Given the description of an element on the screen output the (x, y) to click on. 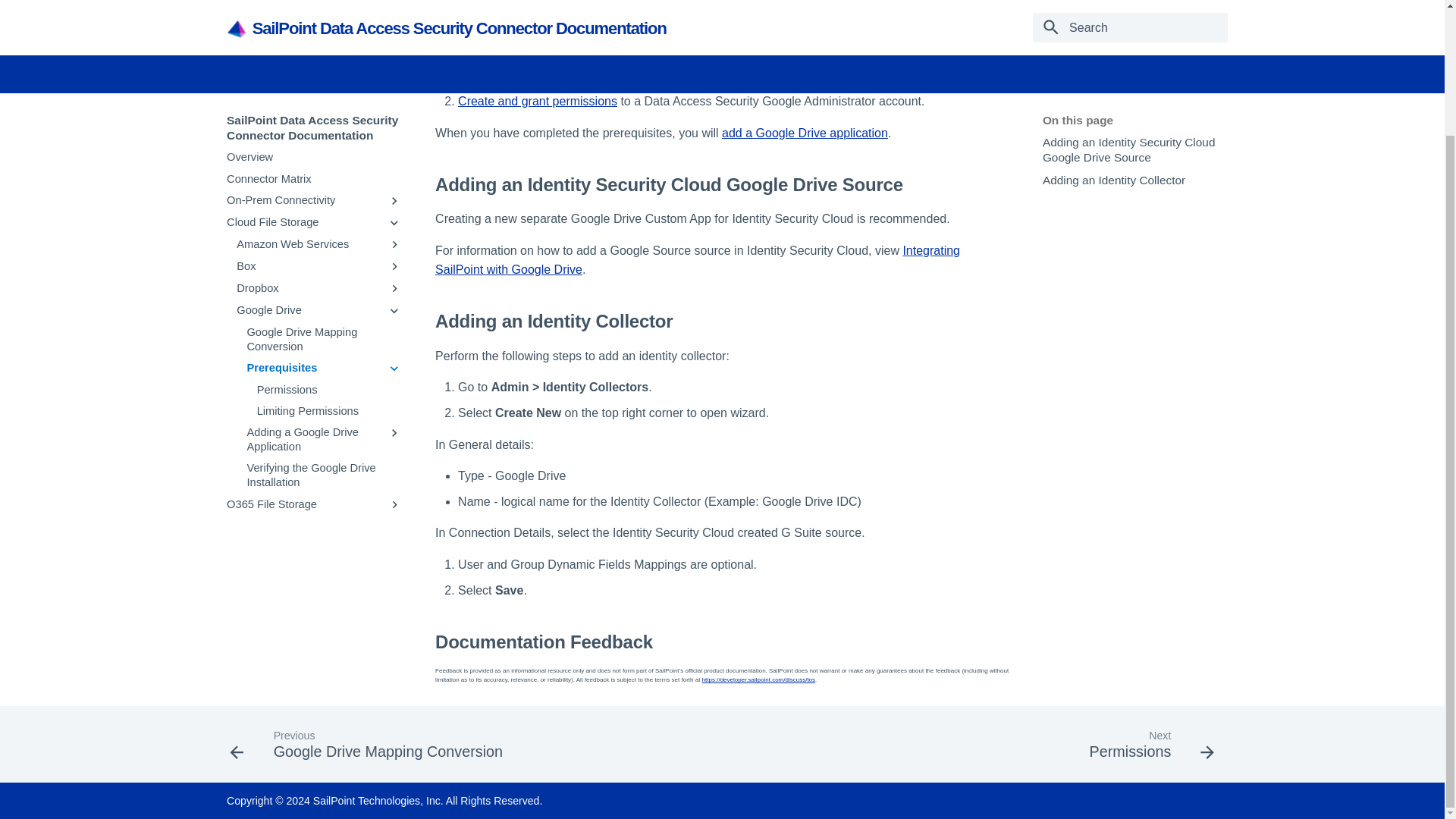
Overview (314, 30)
Amazon Web Services (307, 117)
On-Prem Connectivity (303, 73)
Connector Matrix (314, 52)
Box (307, 139)
Leave feedback (999, 4)
Dropbox (307, 161)
Cloud File Storage (303, 95)
